Given the description of an element on the screen output the (x, y) to click on. 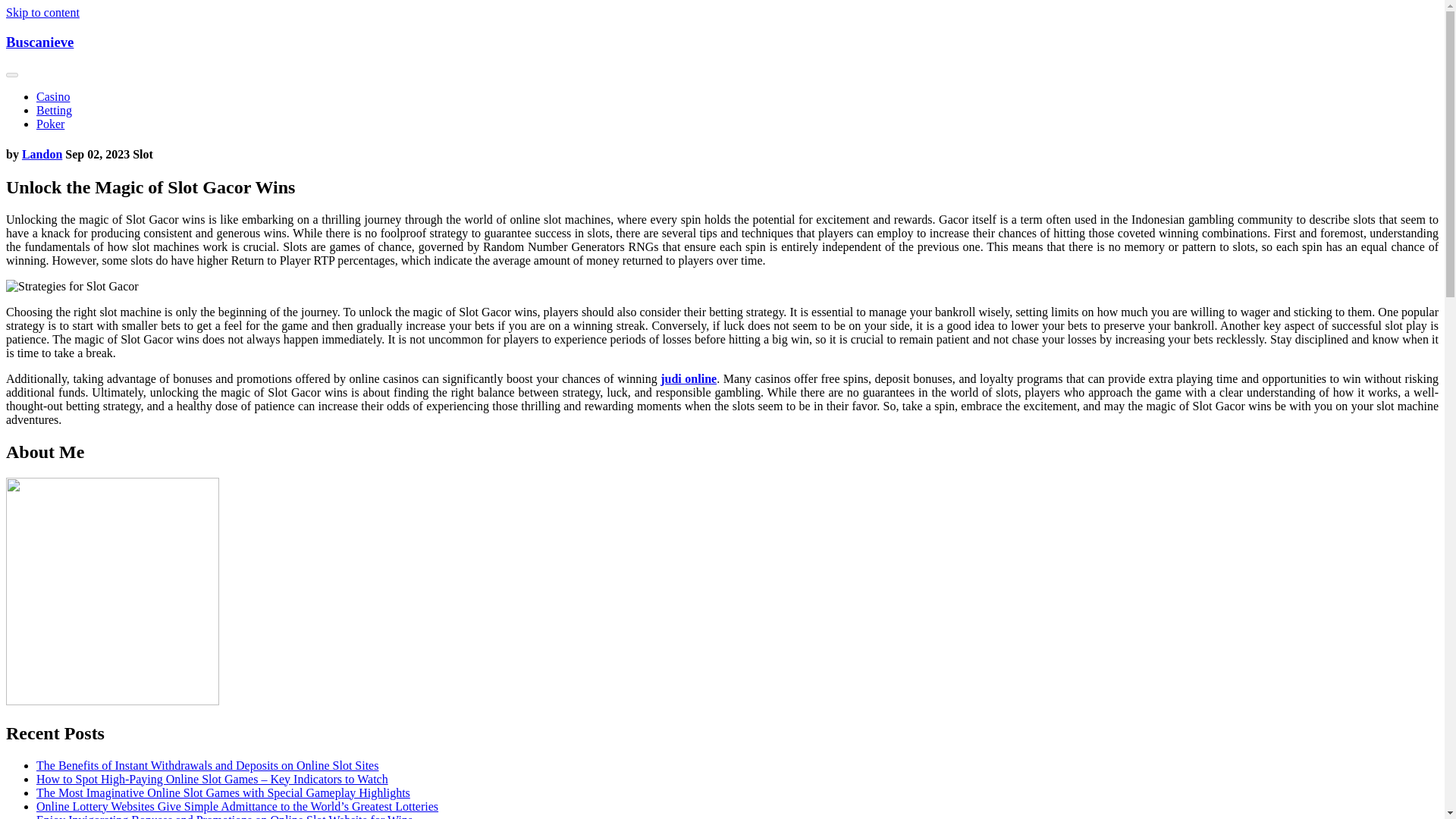
Casino (52, 96)
judi online (688, 378)
Betting (53, 110)
Poker (50, 123)
Skip to content (42, 11)
Landon (41, 154)
